Given the description of an element on the screen output the (x, y) to click on. 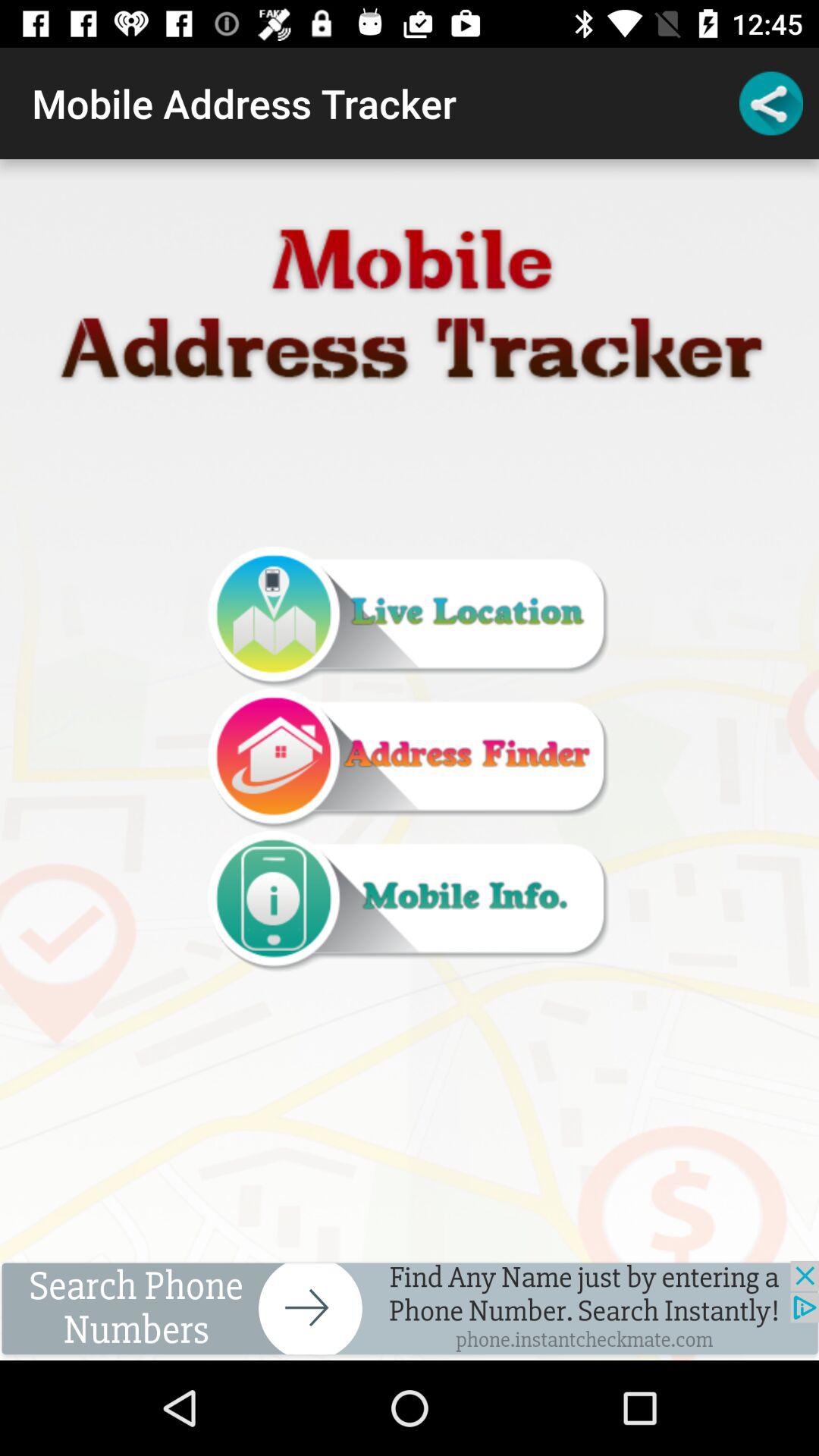
share advertisement (409, 1310)
